Given the description of an element on the screen output the (x, y) to click on. 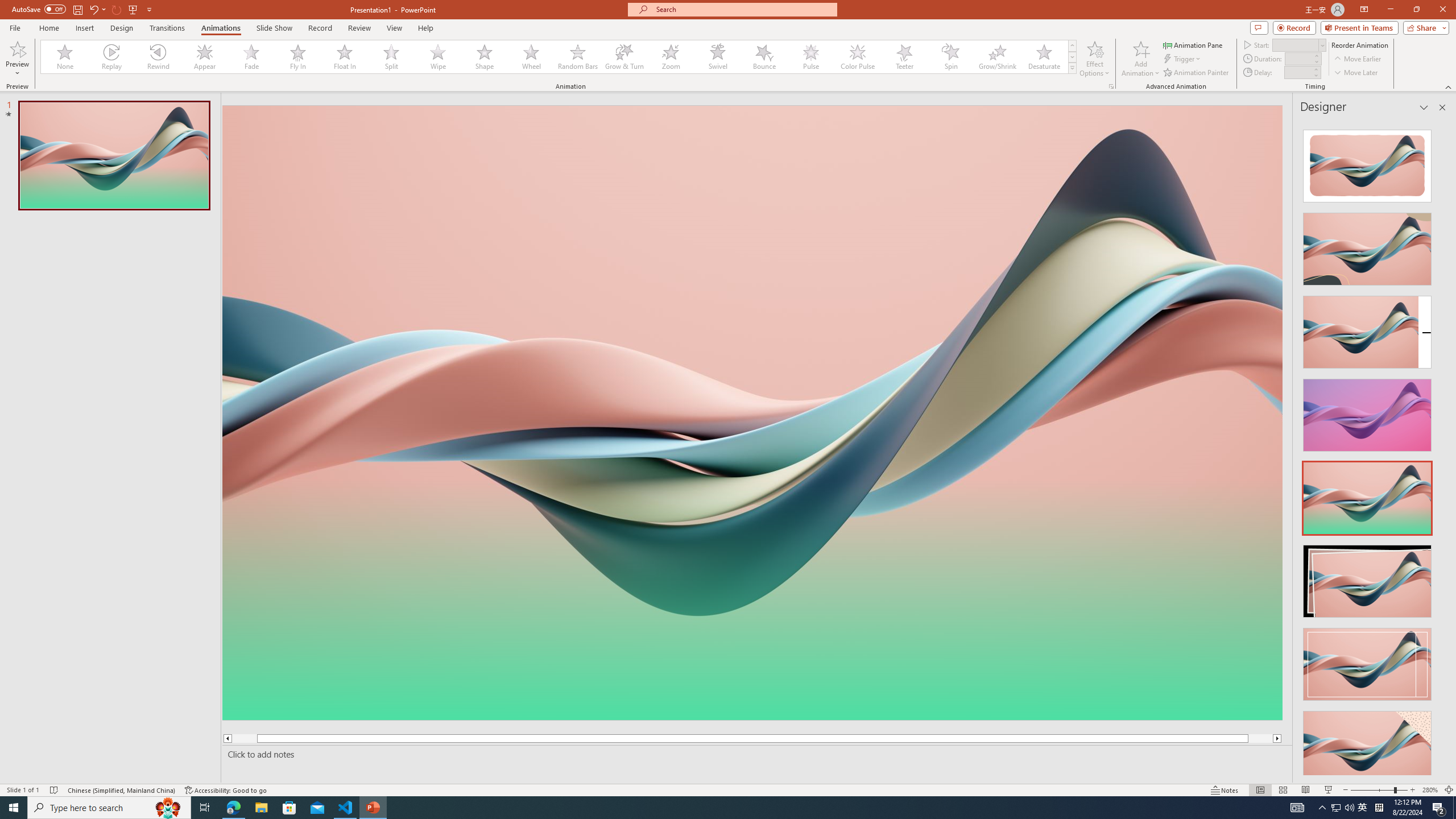
Rewind (158, 56)
Fade (251, 56)
Trigger (1182, 58)
